Given the description of an element on the screen output the (x, y) to click on. 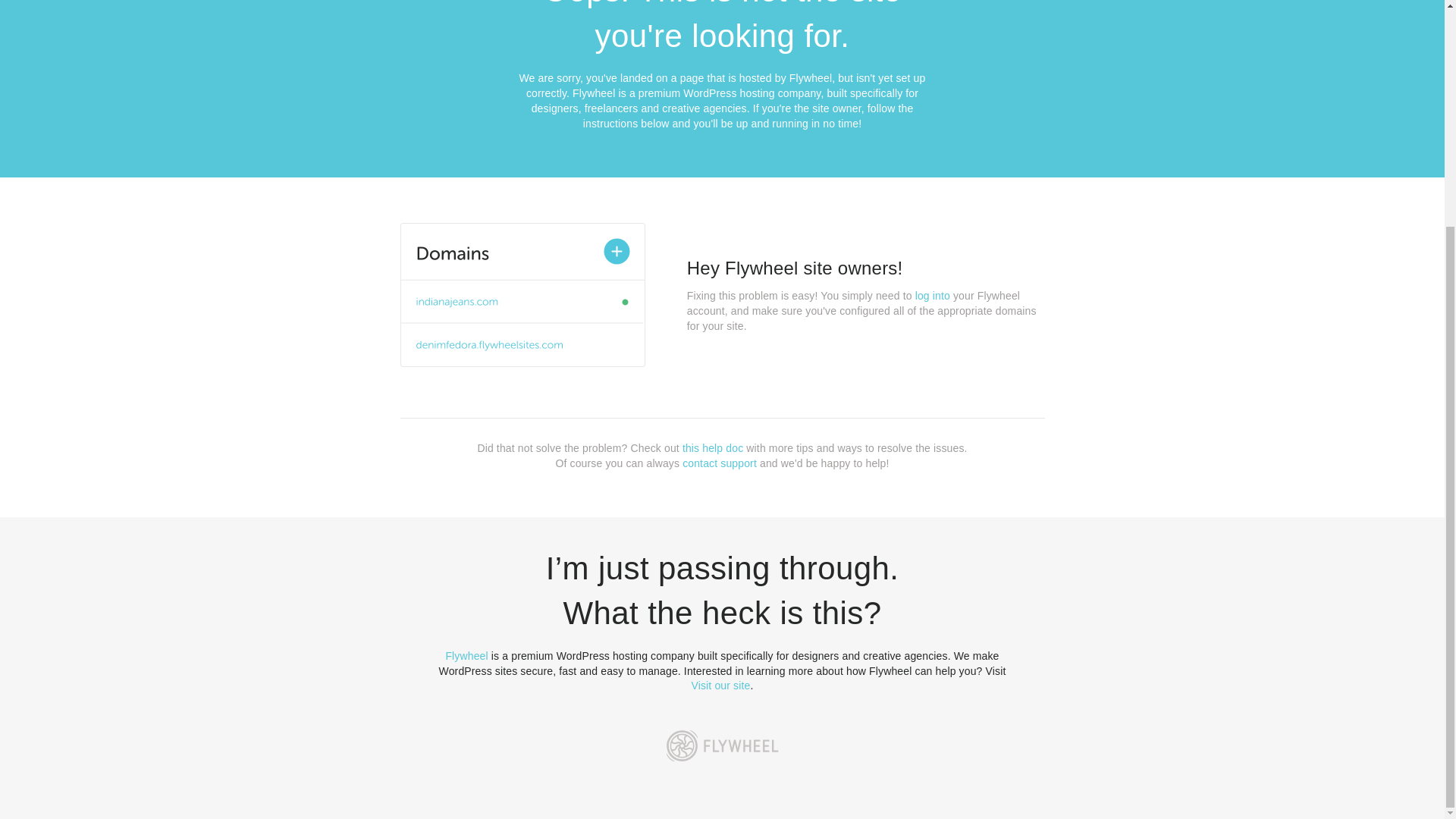
Visit our site (721, 685)
contact support (719, 463)
Flywheel (466, 655)
this help doc (712, 448)
log into (932, 295)
